Given the description of an element on the screen output the (x, y) to click on. 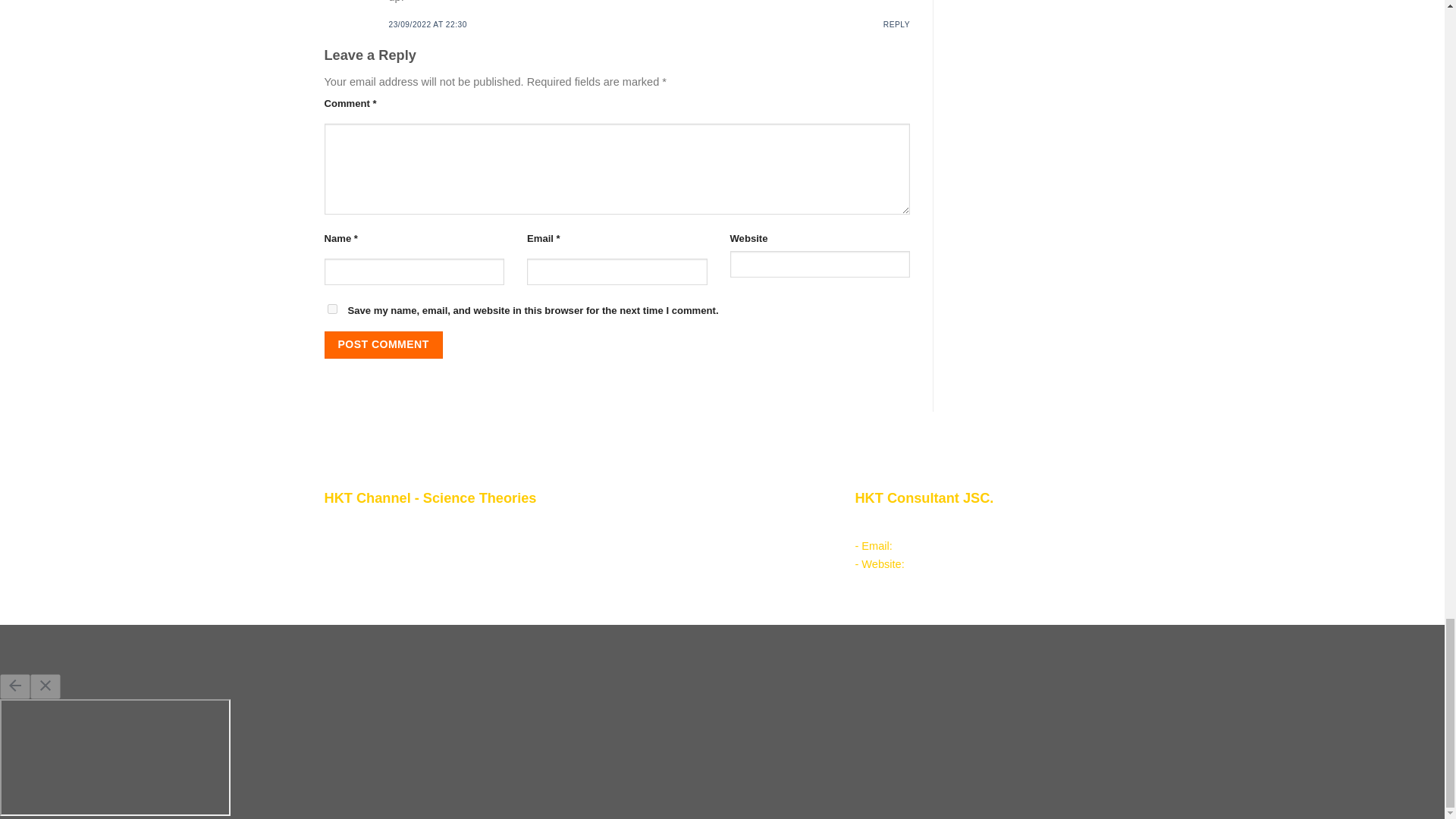
Post Comment (383, 344)
About us (378, 525)
yes (332, 308)
About HKT CHANNEL (389, 542)
